Given the description of an element on the screen output the (x, y) to click on. 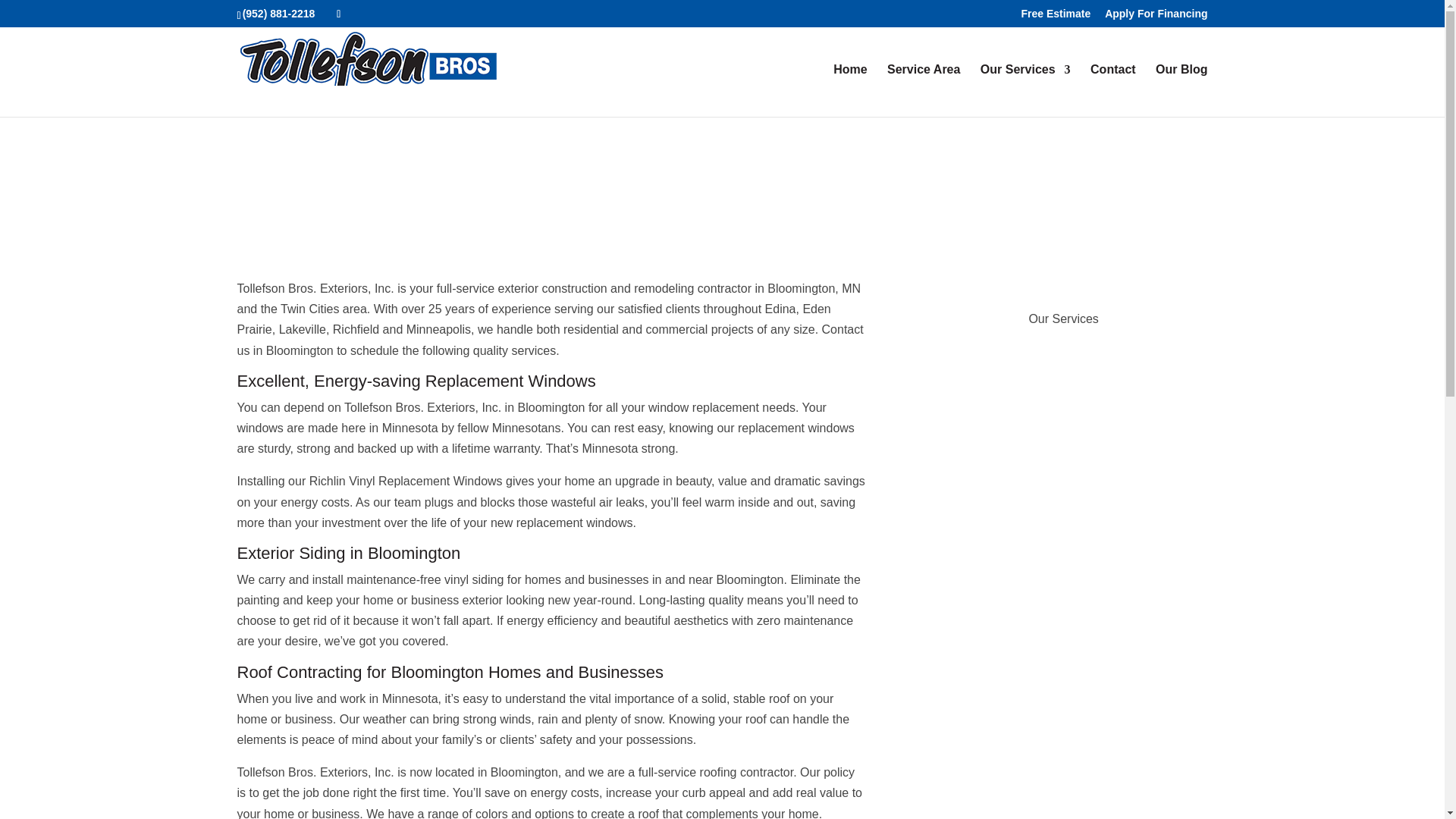
Free Estimate (1055, 16)
Replacement Windows (1018, 373)
Our Services (1024, 90)
Roofing (966, 496)
Apply For Financing (1156, 16)
Service Area (922, 90)
Get A Free Estimate (1008, 681)
Our Blog (1181, 90)
Storm Damage (991, 619)
Exterior Siding (989, 434)
Insulation (973, 557)
